Given the description of an element on the screen output the (x, y) to click on. 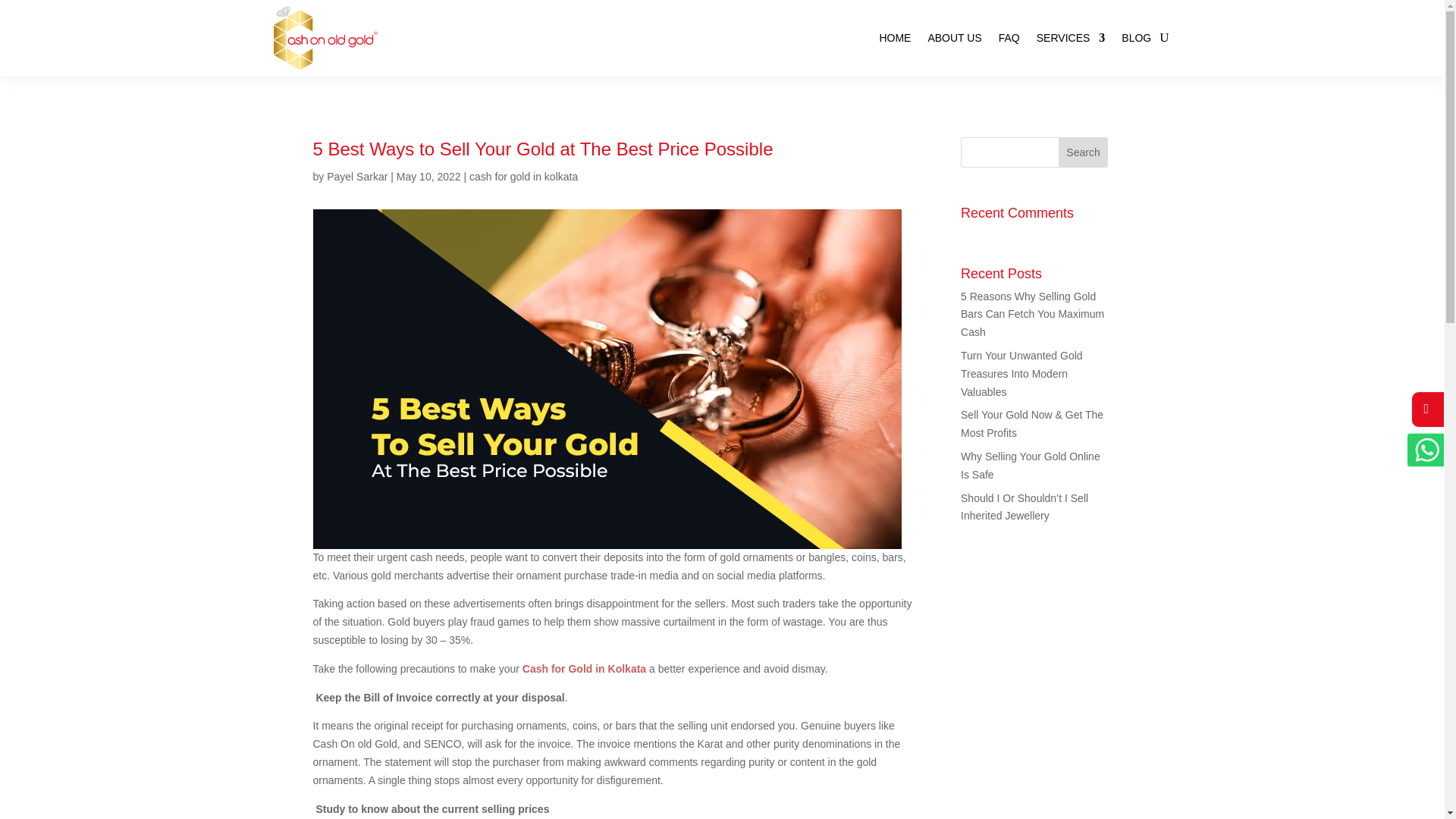
Cash for Gold in Kolkata (584, 668)
Posts by Payel Sarkar (356, 176)
Payel Sarkar (356, 176)
SERVICES (1070, 38)
5 Reasons Why Selling Gold Bars Can Fetch You Maximum Cash (1031, 314)
cash for gold in kolkata (523, 176)
Search (1083, 152)
Turn Your Unwanted Gold Treasures Into Modern Valuables (1021, 373)
Why Selling Your Gold Online Is Safe (1030, 465)
Search (1083, 152)
